Given the description of an element on the screen output the (x, y) to click on. 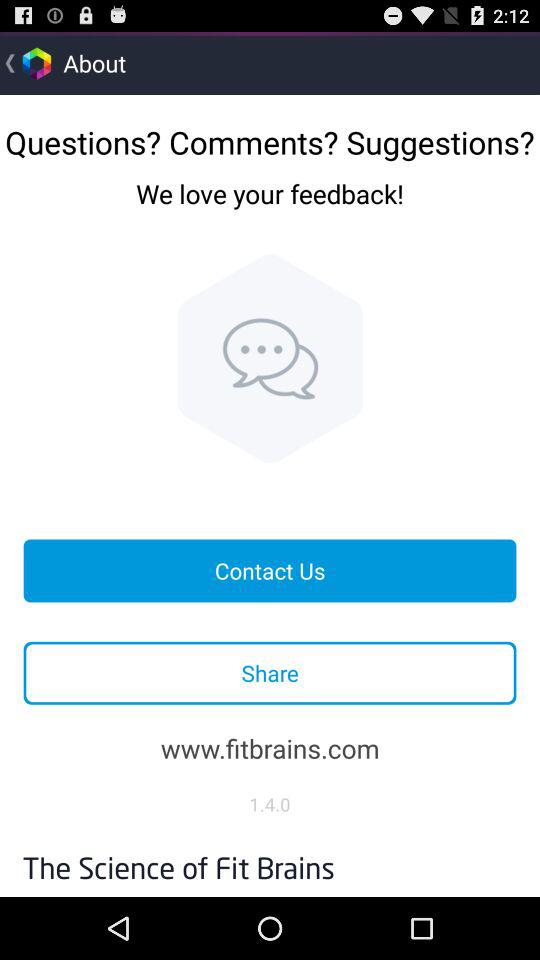
press the www.fitbrains.com item (270, 747)
